Given the description of an element on the screen output the (x, y) to click on. 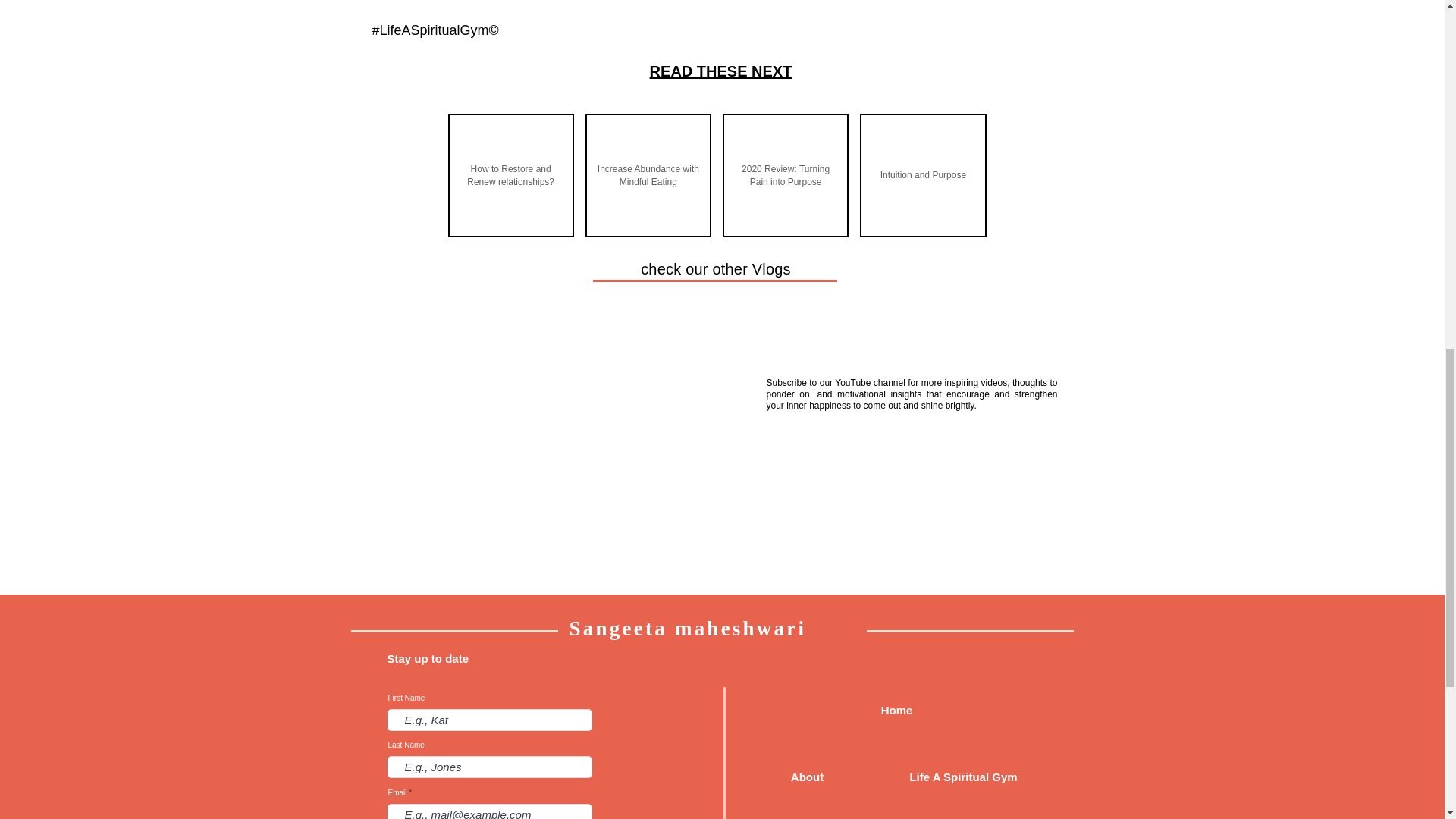
Increase Abundance with Mindful Eating (648, 175)
Intuition and Purpose (922, 175)
2020 Review: Turning Pain into Purpose (785, 175)
How to Restore and Renew relationships? (509, 175)
